Given the description of an element on the screen output the (x, y) to click on. 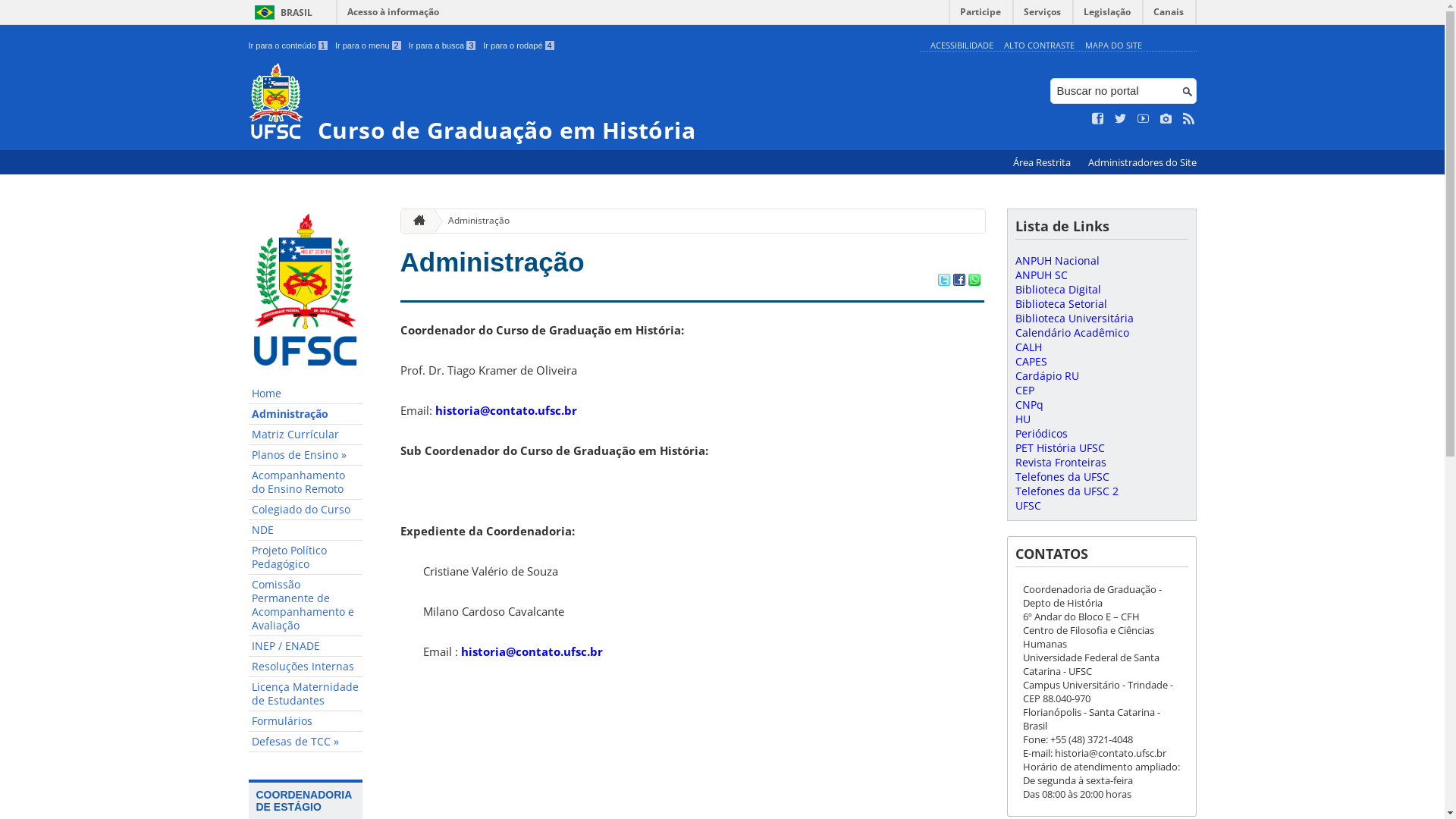
historia@contato.ufsc.br Element type: text (531, 650)
Revista Fronteiras Element type: text (1059, 462)
CEP Element type: text (1023, 389)
Biblioteca Digital Element type: text (1057, 289)
NDE Element type: text (305, 530)
BRASIL Element type: text (280, 12)
ANPUH Nacional Element type: text (1056, 260)
Ir para a busca 3 Element type: text (442, 45)
Veja no Instagram Element type: hover (1166, 118)
Ir para o menu 2 Element type: text (368, 45)
INEP / ENADE Element type: text (305, 646)
ANPUH SC Element type: text (1040, 274)
Colegiado do Curso Element type: text (305, 509)
Administradores do Site Element type: text (1141, 162)
Canais Element type: text (1169, 15)
MAPA DO SITE Element type: text (1112, 44)
Compartilhar no Twitter Element type: hover (943, 280)
CALH Element type: text (1027, 346)
Curta no Facebook Element type: hover (1098, 118)
Telefones da UFSC 2 Element type: text (1065, 490)
ACESSIBILIDADE Element type: text (960, 44)
Acompanhamento do Ensino Remoto Element type: text (305, 482)
HU Element type: text (1021, 418)
Siga no Twitter Element type: hover (1120, 118)
CNPq Element type: text (1028, 404)
Biblioteca Setorial Element type: text (1060, 303)
Compartilhar no Facebook Element type: hover (958, 280)
Telefones da UFSC Element type: text (1061, 476)
CAPES Element type: text (1030, 361)
Participe Element type: text (980, 15)
Home Element type: text (305, 393)
historia@contato.ufsc.br Element type: text (506, 409)
ALTO CONTRASTE Element type: text (1039, 44)
UFSC Element type: text (1027, 505)
Compartilhar no WhatsApp Element type: hover (973, 280)
